Given the description of an element on the screen output the (x, y) to click on. 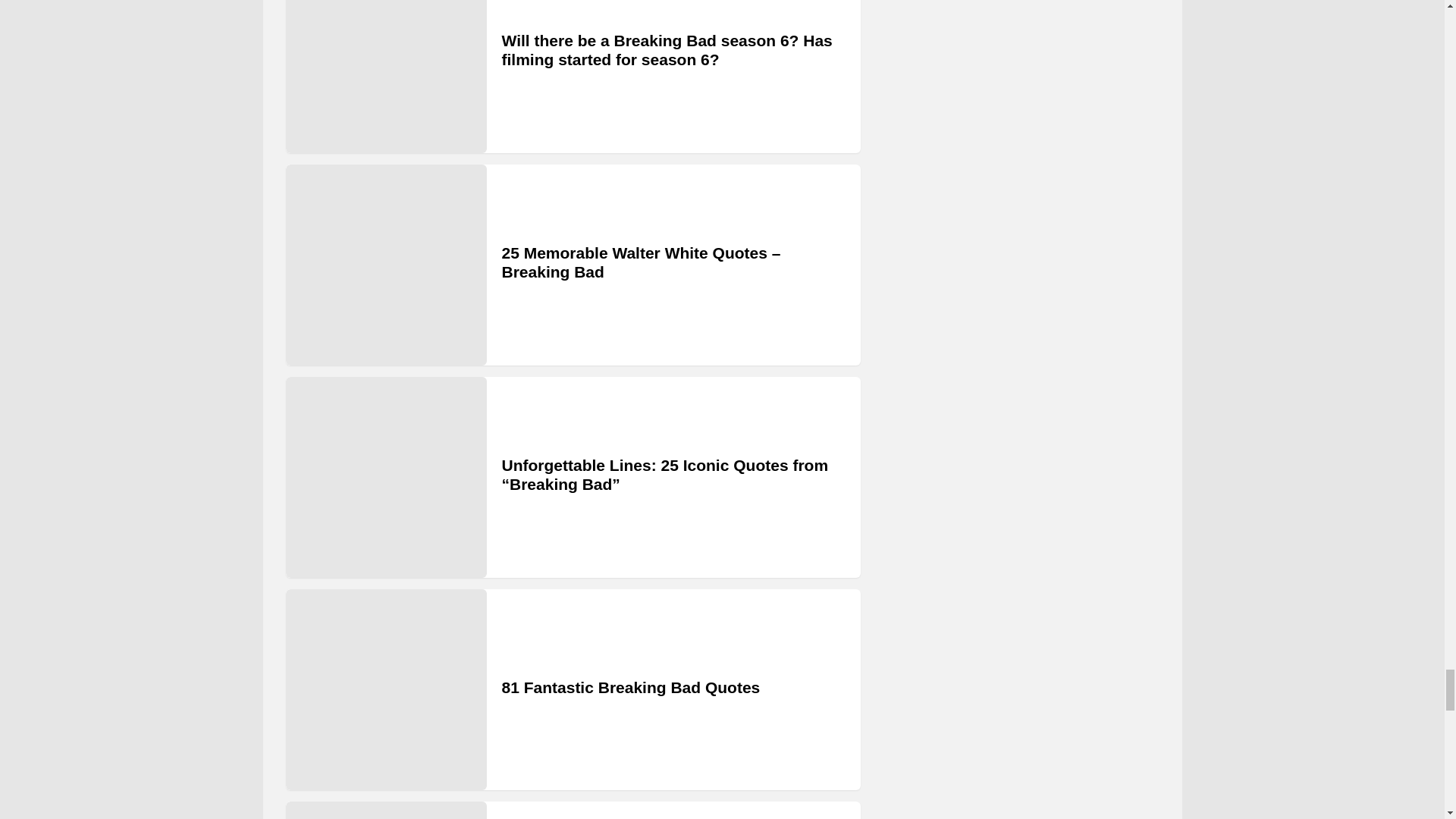
58 Fantastic Breaking Bad Quotes from fans (385, 810)
81 Fantastic Breaking Bad Quotes (385, 689)
